Given the description of an element on the screen output the (x, y) to click on. 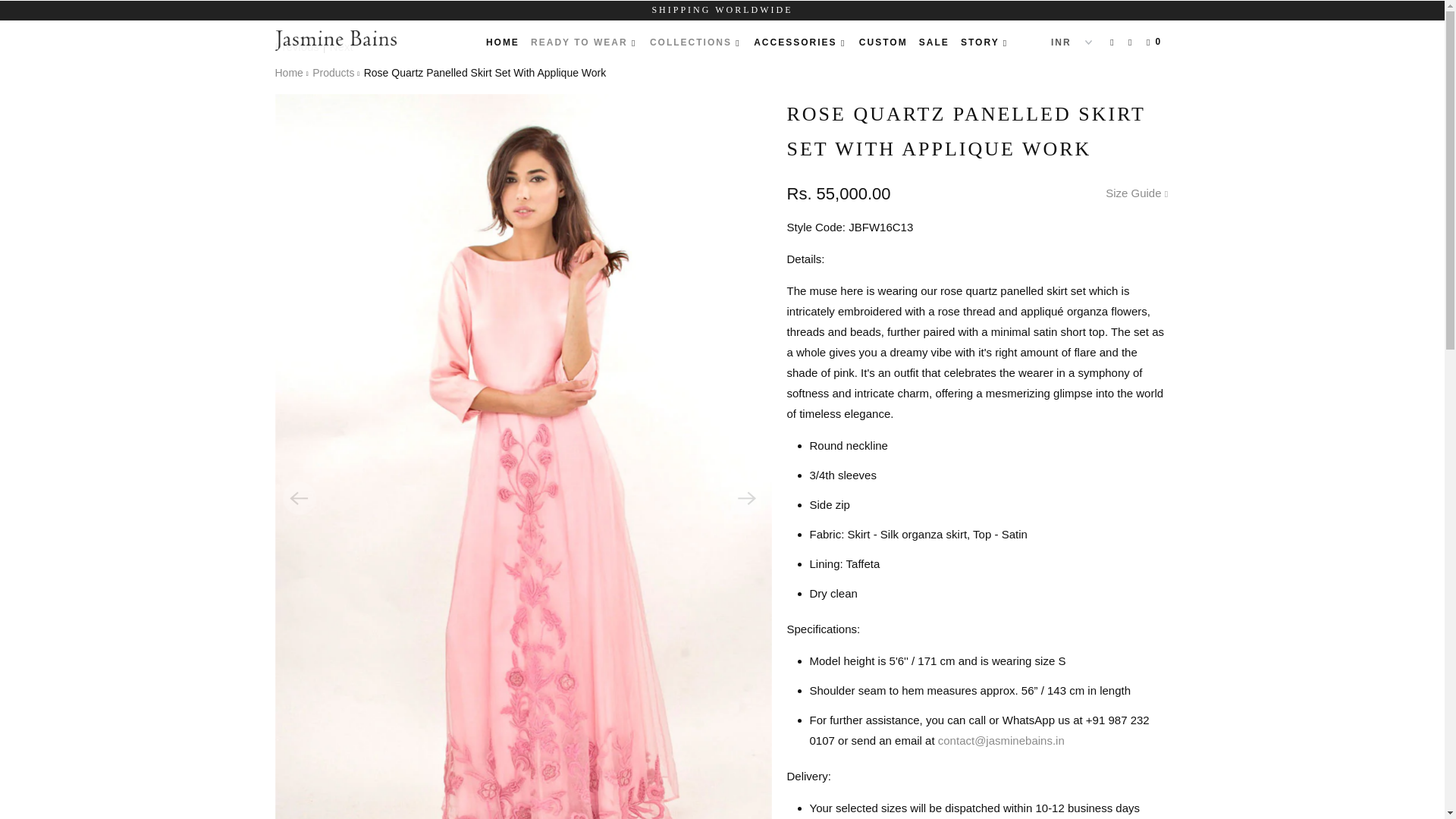
Next (341, 46)
Previous (296, 46)
Products (333, 72)
Jasmine Bains (352, 39)
Jasmine Bains (288, 72)
